Given the description of an element on the screen output the (x, y) to click on. 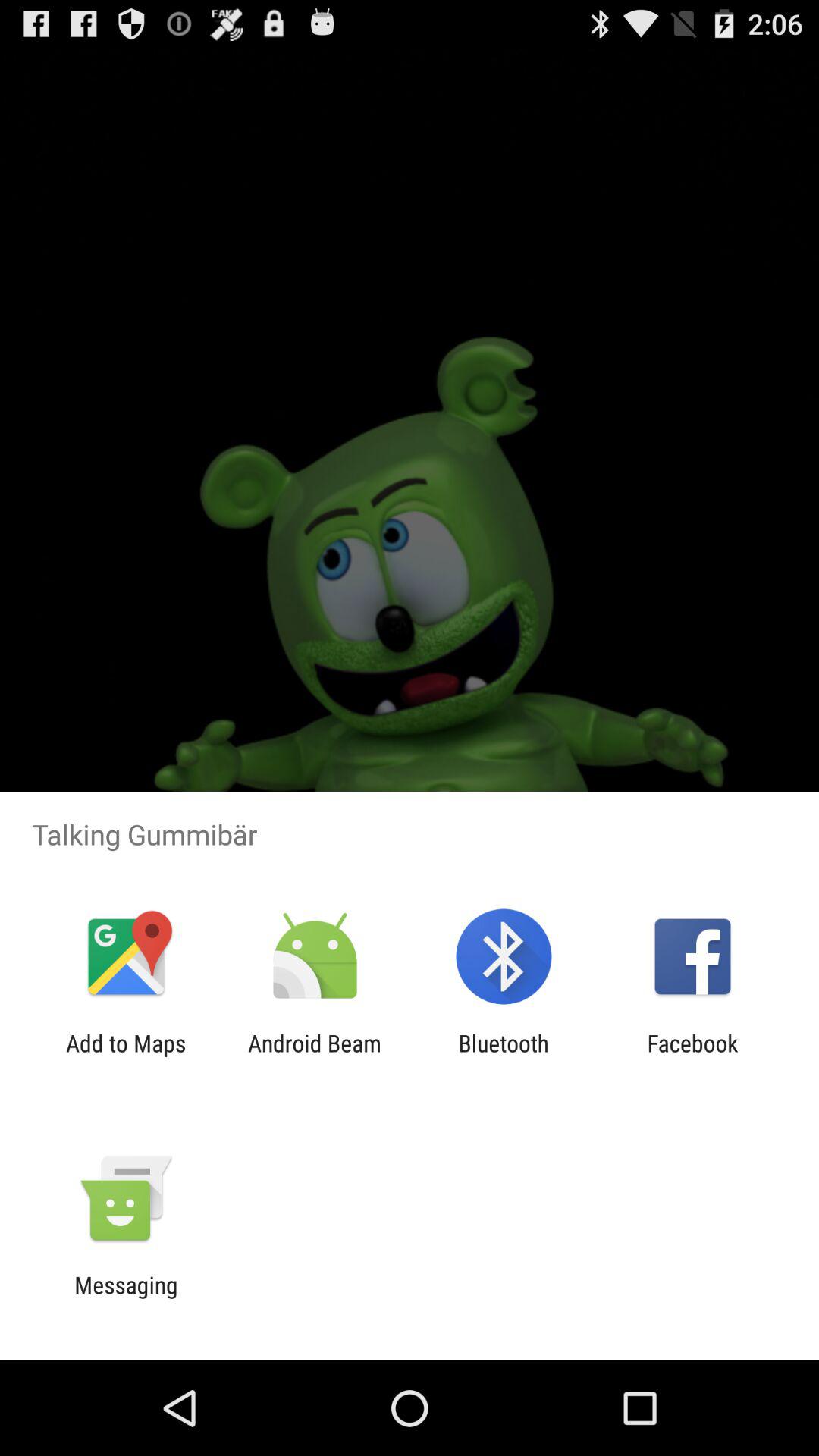
click the facebook app (692, 1056)
